Given the description of an element on the screen output the (x, y) to click on. 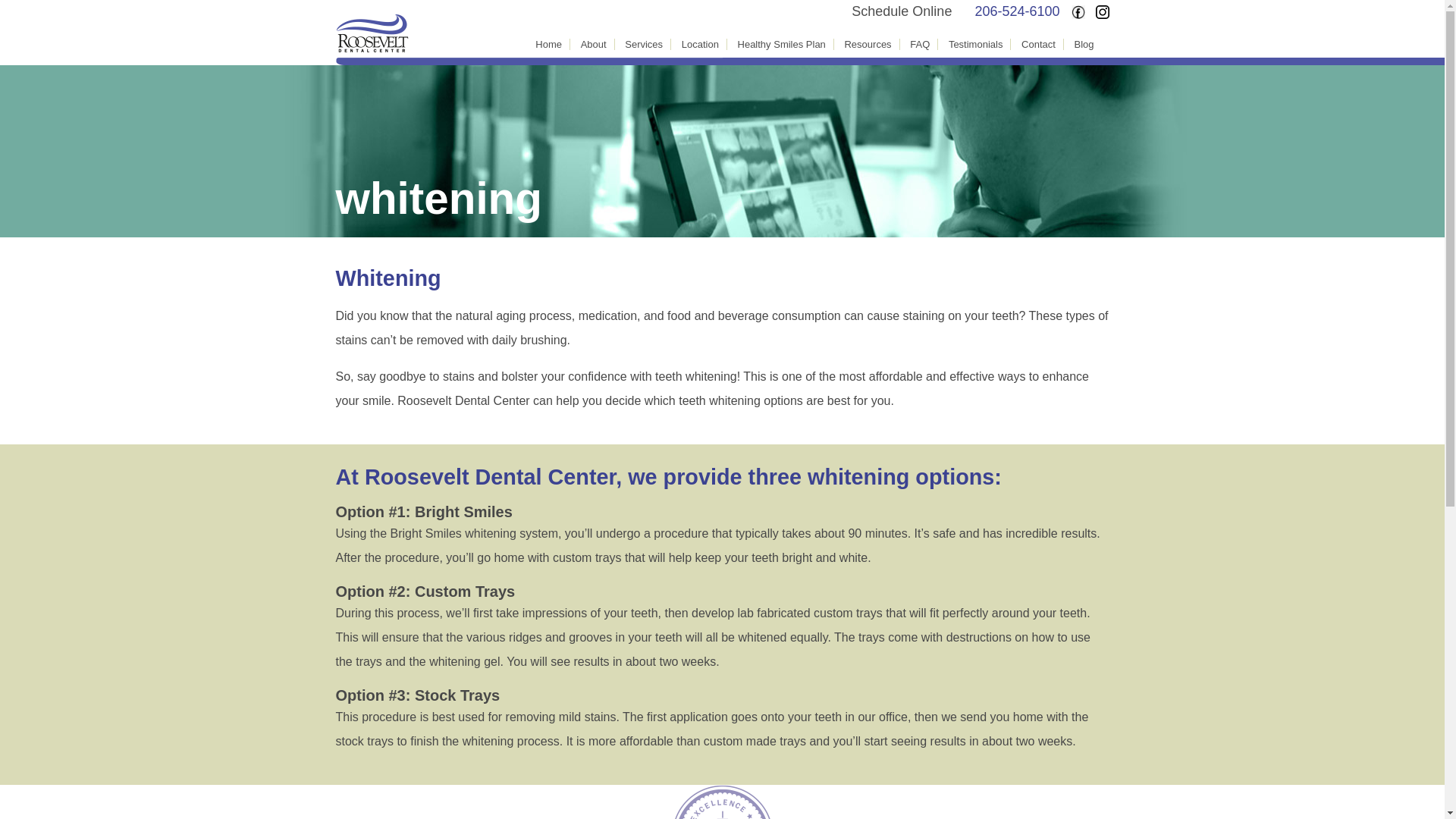
206-524-6100 (1016, 11)
Schedule Online (901, 11)
Contact (1038, 43)
Testimonials (976, 43)
Location (700, 43)
Resources (867, 43)
Healthy Smiles Plan (781, 43)
FAQ (920, 43)
About (593, 43)
Services (643, 43)
